Given the description of an element on the screen output the (x, y) to click on. 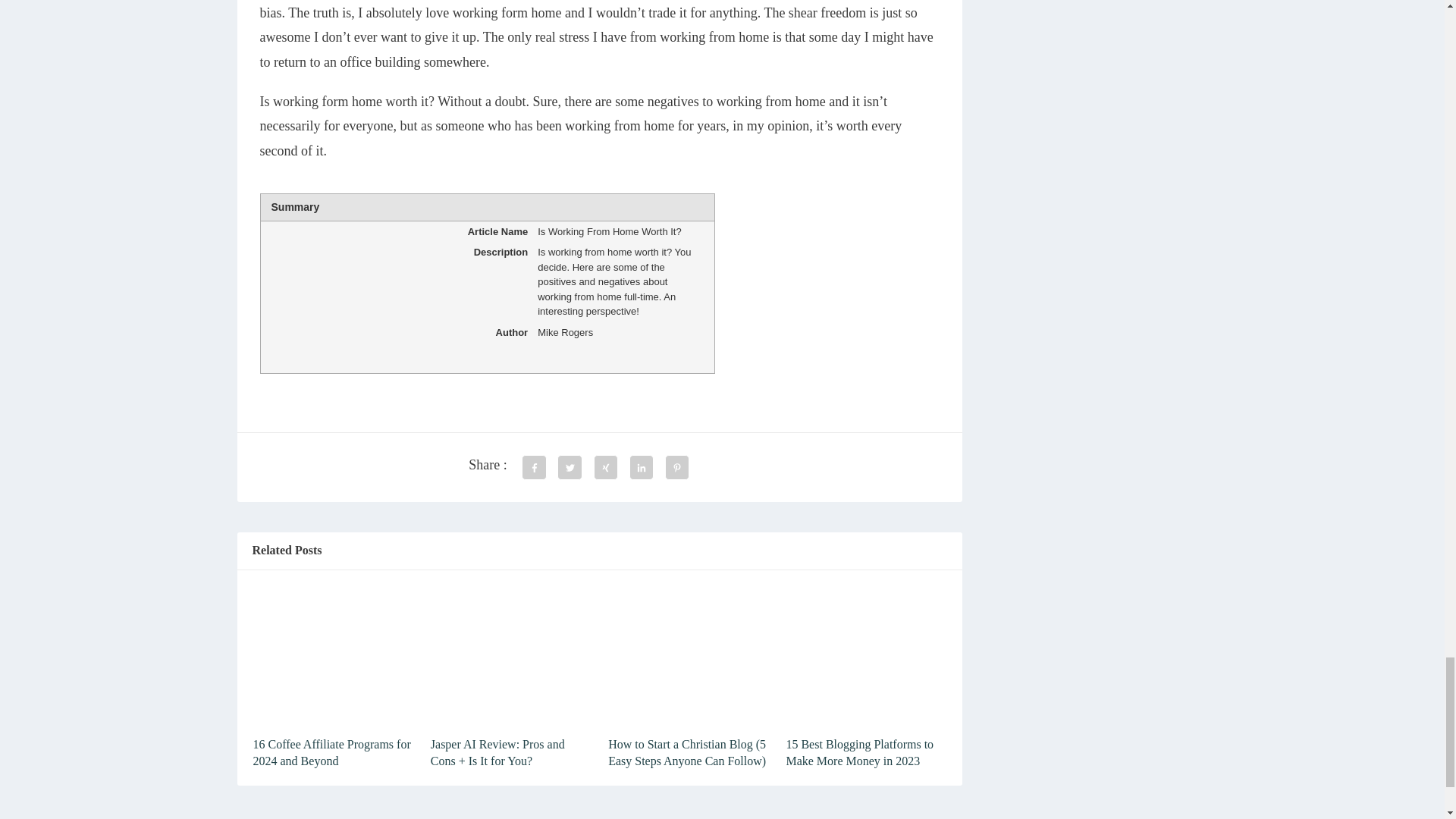
15 Best Blogging Platforms to Make More Money in 2023 (859, 752)
16 Coffee Affiliate Programs for 2024 and Beyond (331, 752)
16 Coffee Affiliate Programs for 2024 and Beyond (331, 752)
